Given the description of an element on the screen output the (x, y) to click on. 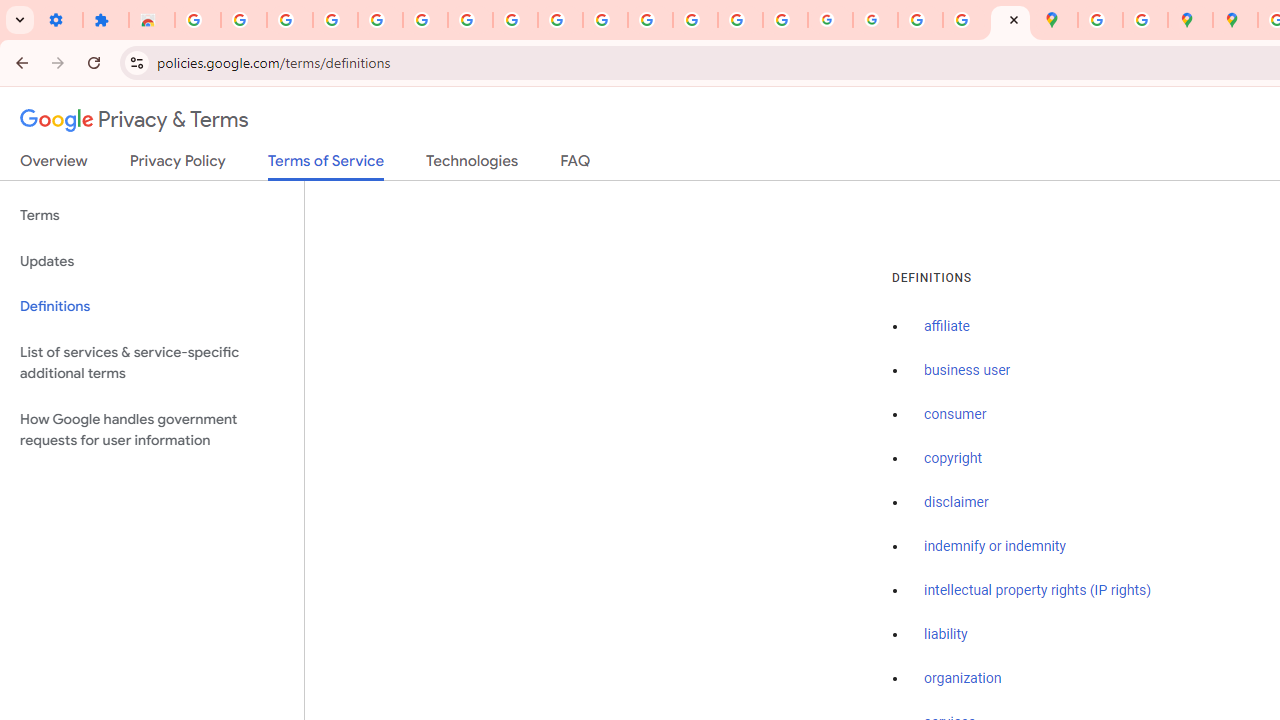
Safety in Our Products - Google Safety Center (1145, 20)
YouTube (559, 20)
organization (963, 679)
consumer (955, 415)
